Given the description of an element on the screen output the (x, y) to click on. 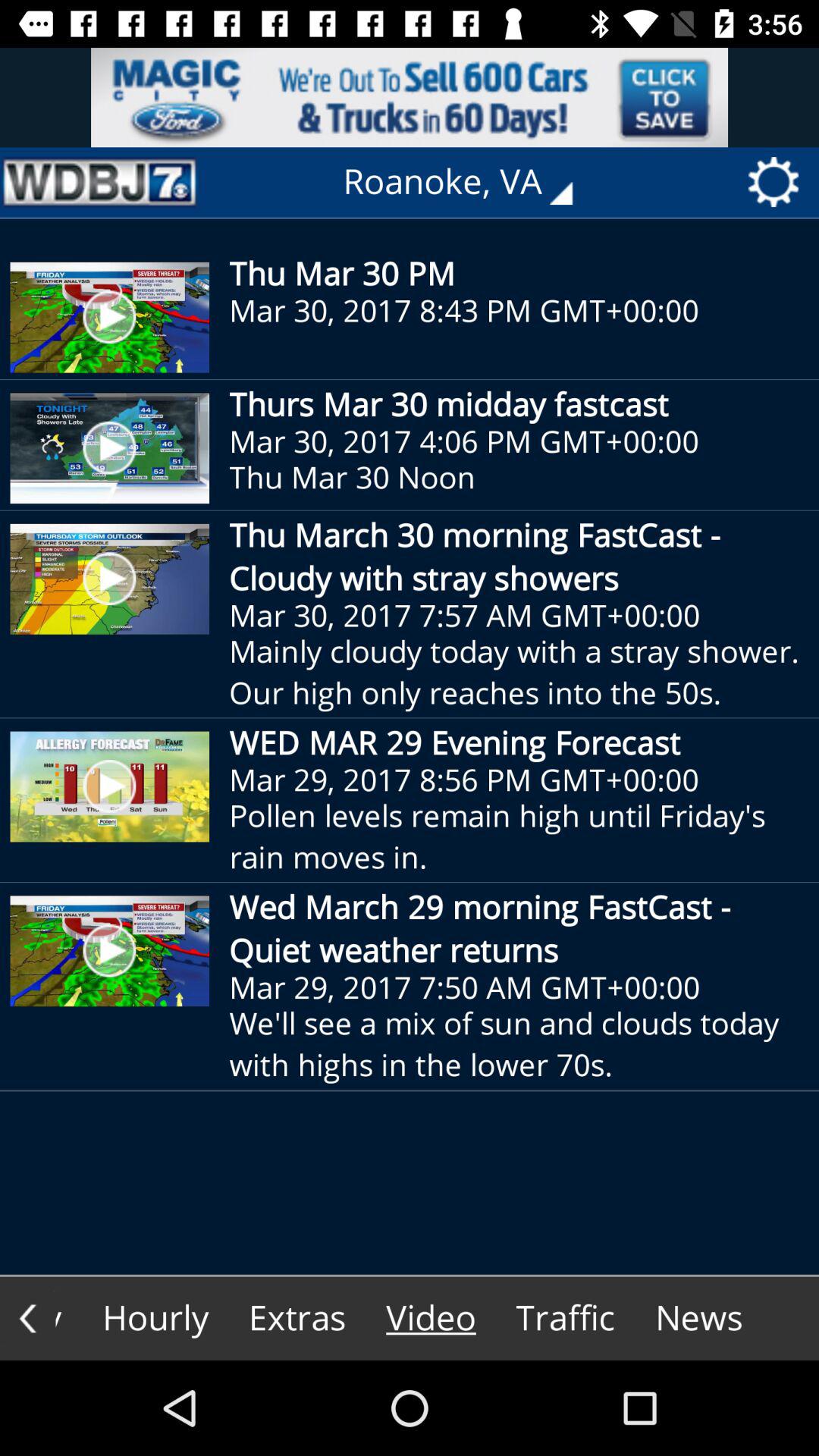
go to advertisement (409, 97)
